Given the description of an element on the screen output the (x, y) to click on. 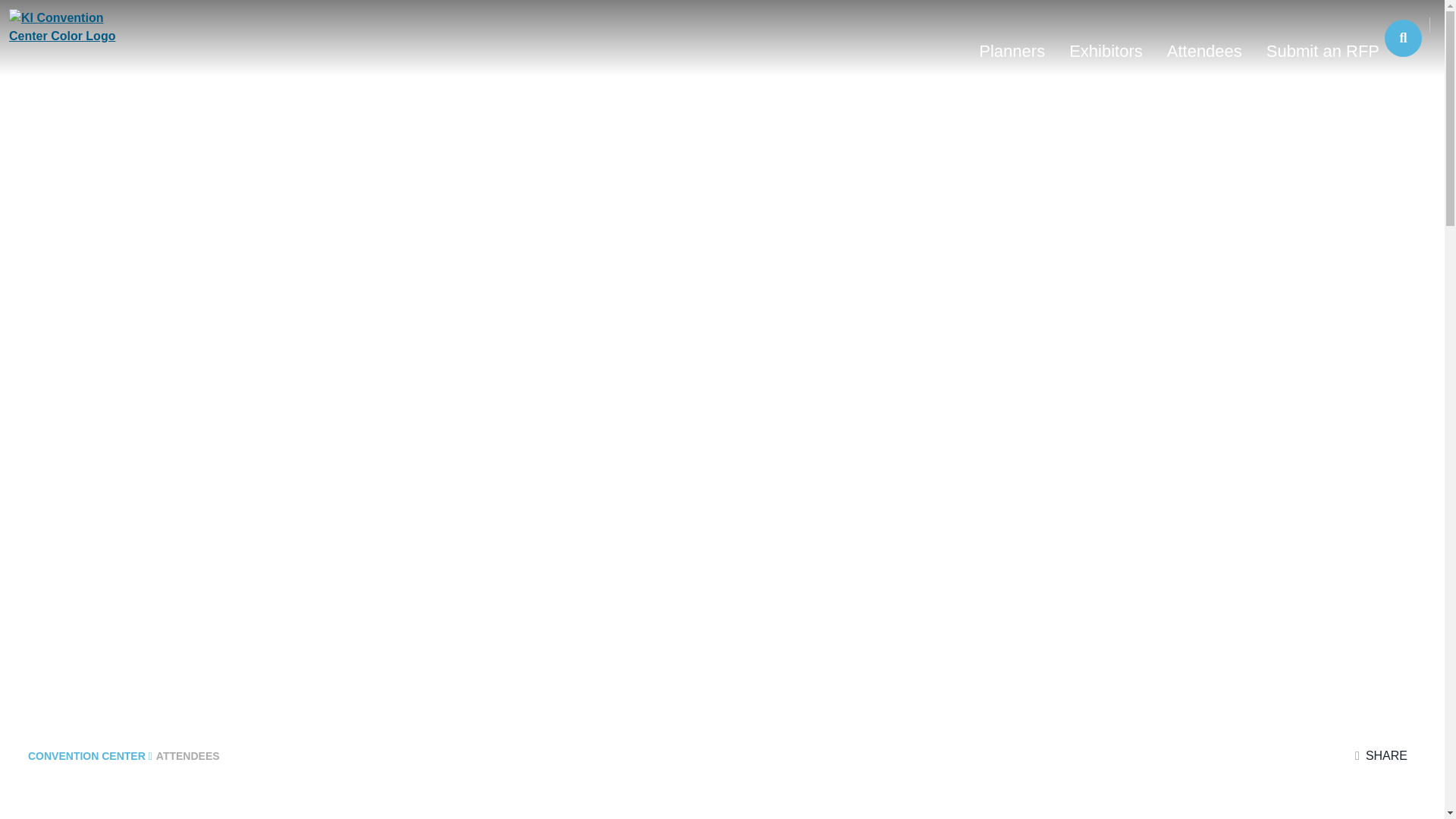
Attendees (1203, 56)
ATTENDEES (187, 756)
CONVENTION CENTER (89, 756)
Submit an RFP (1322, 56)
Planners (1011, 56)
Exhibitors (1105, 56)
